Given the description of an element on the screen output the (x, y) to click on. 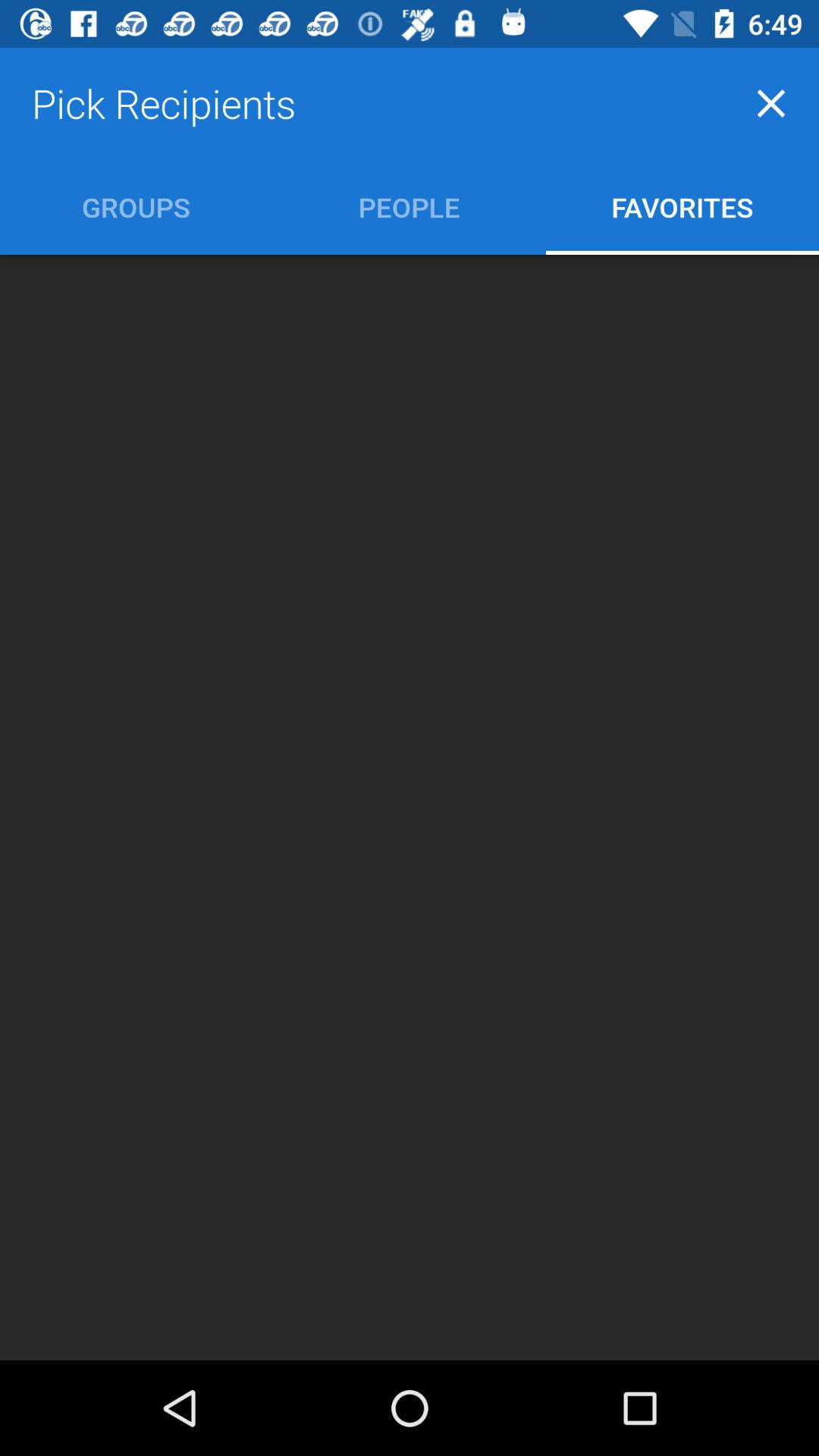
open the item above the favorites icon (771, 103)
